Given the description of an element on the screen output the (x, y) to click on. 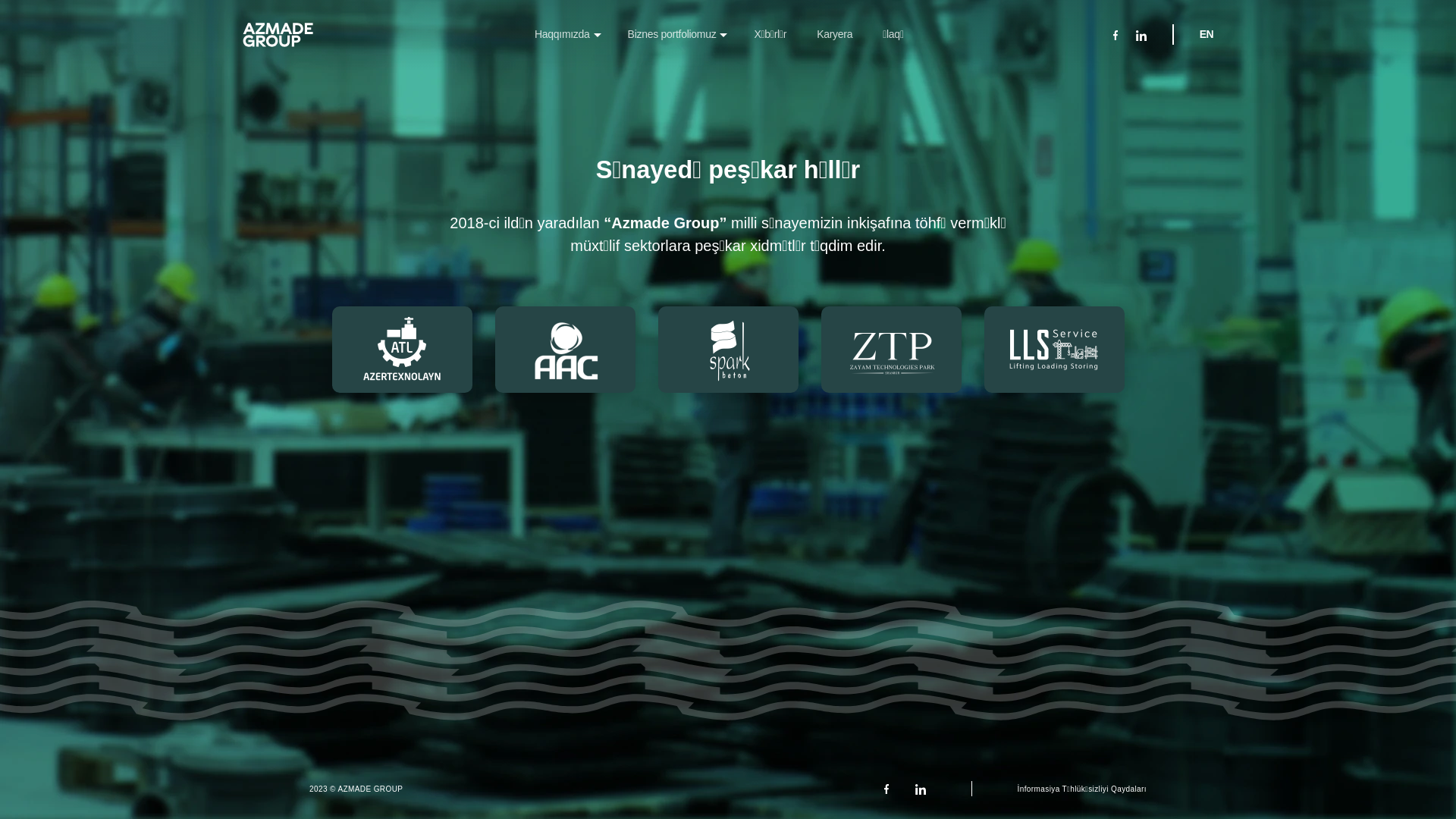
EN Element type: text (1206, 34)
Biznes portfoliomuz Element type: text (675, 34)
Karyera Element type: text (834, 34)
